Given the description of an element on the screen output the (x, y) to click on. 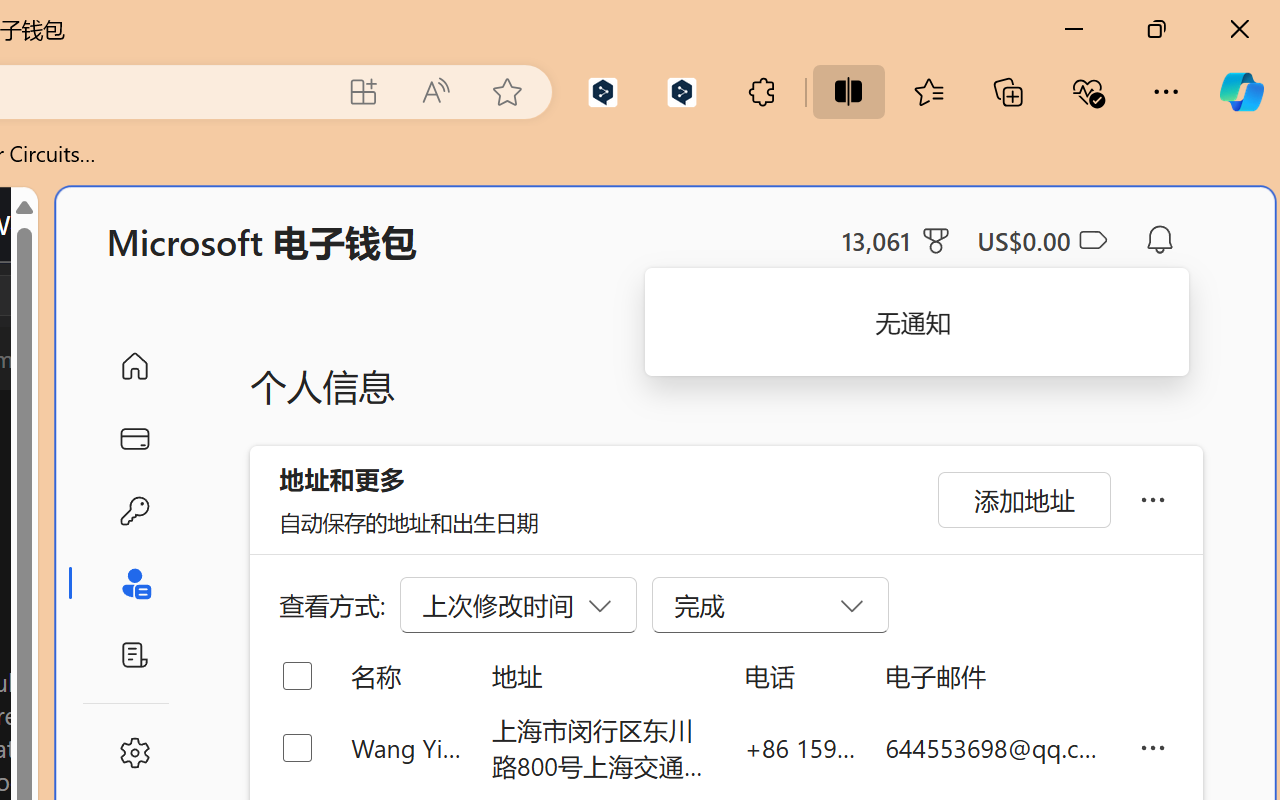
Microsoft Cashback - US$0.00 (1041, 240)
Copilot (Ctrl+Shift+.) (1241, 91)
